Given the description of an element on the screen output the (x, y) to click on. 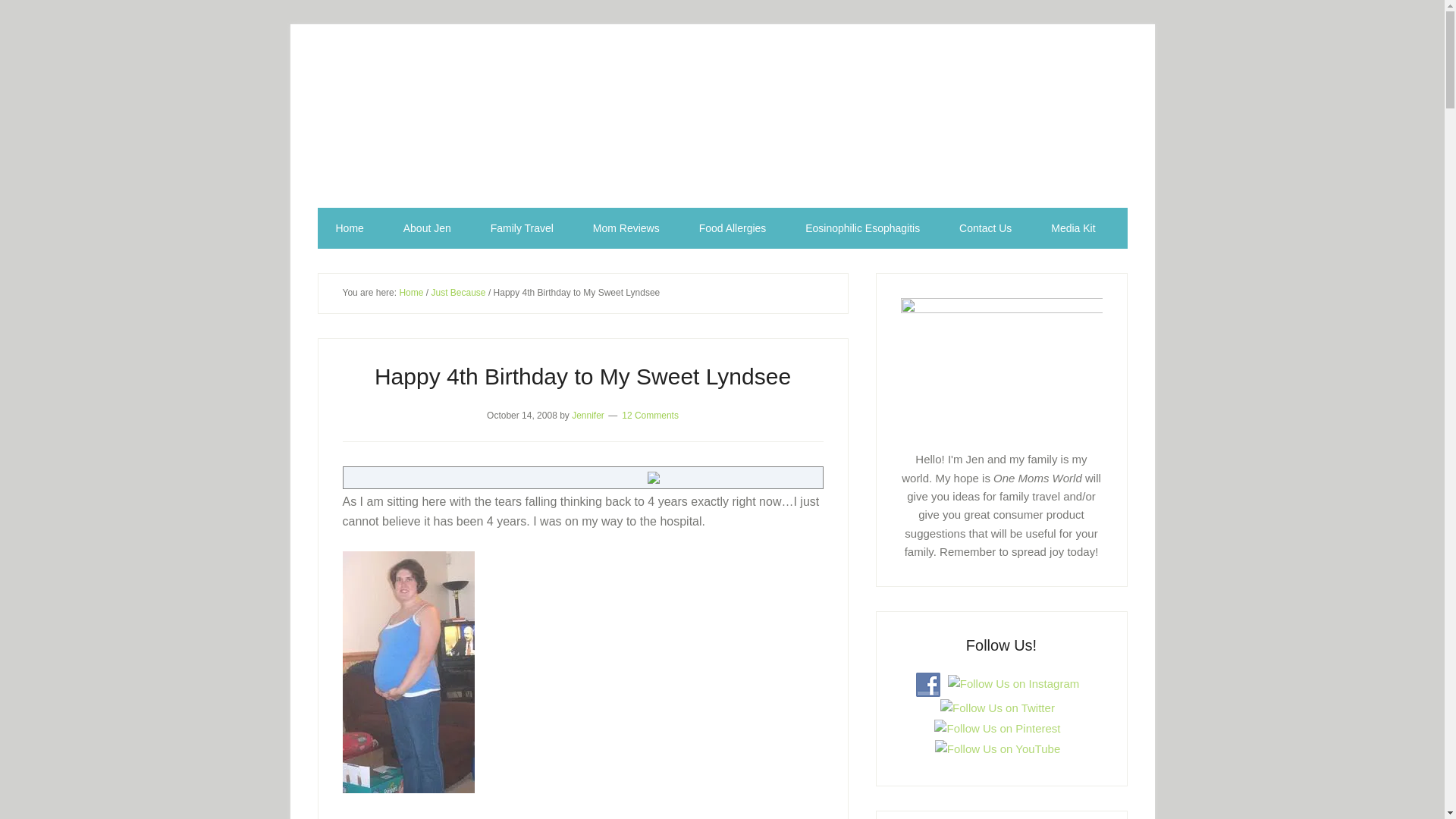
Follow Us on Pinterest (996, 728)
Home (410, 292)
Family Travel (521, 228)
Follow Us on Twitter (997, 708)
Food Allergies (732, 228)
12 Comments (649, 414)
Home (349, 228)
Just Because (457, 292)
One Moms World Mom Blog - Jen Houck (721, 129)
